Given the description of an element on the screen output the (x, y) to click on. 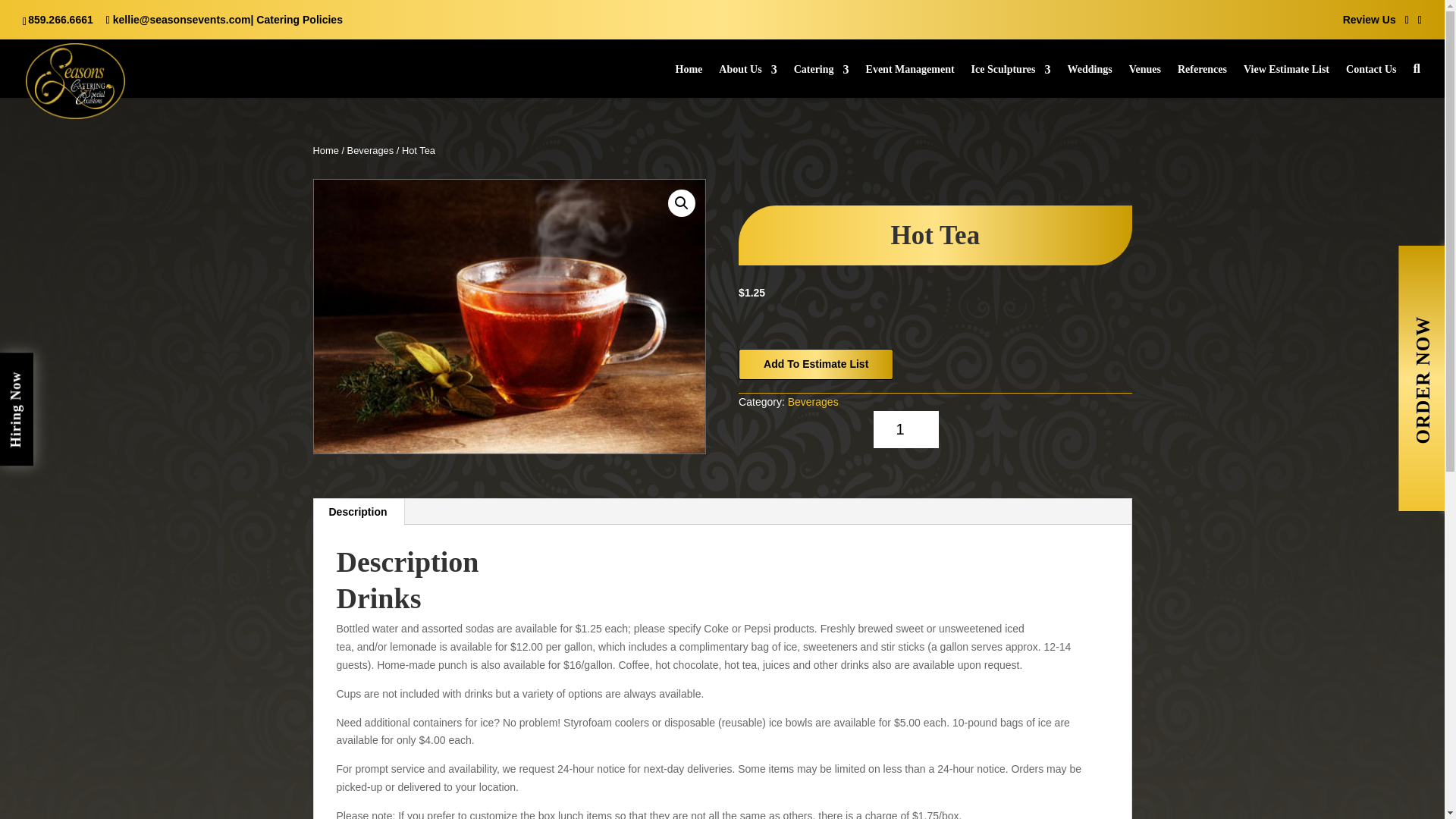
Hot-Tea (509, 316)
Ice Sculptures (1011, 80)
View Estimate List (1286, 80)
References (1202, 80)
Contact Us (1370, 80)
1 (906, 429)
Weddings (1089, 80)
About Us (747, 80)
Venues (1144, 80)
Review Us (1369, 19)
